Given the description of an element on the screen output the (x, y) to click on. 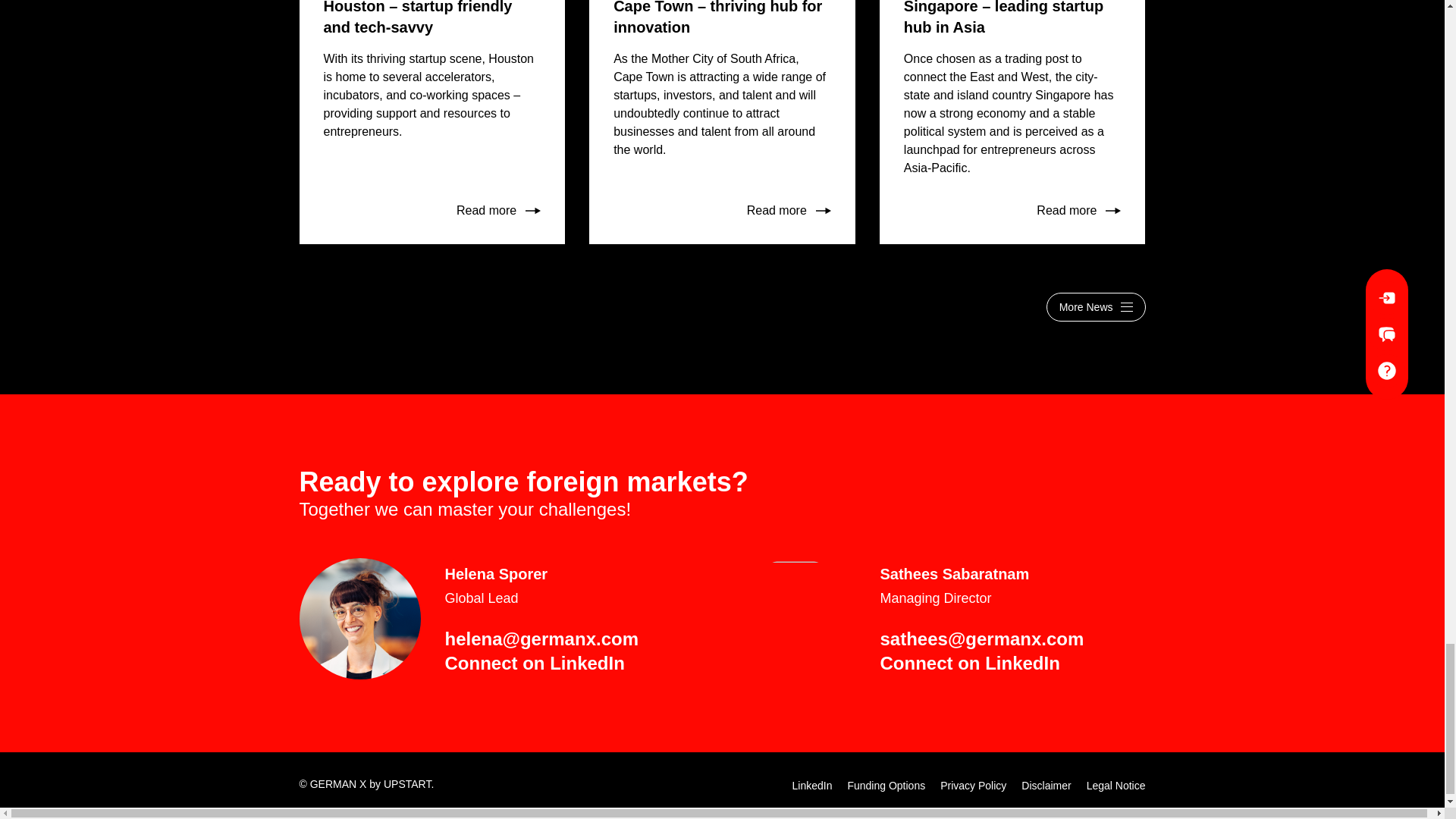
Read more (1078, 210)
More News (1095, 306)
Read more (788, 210)
Read more (498, 210)
